Given the description of an element on the screen output the (x, y) to click on. 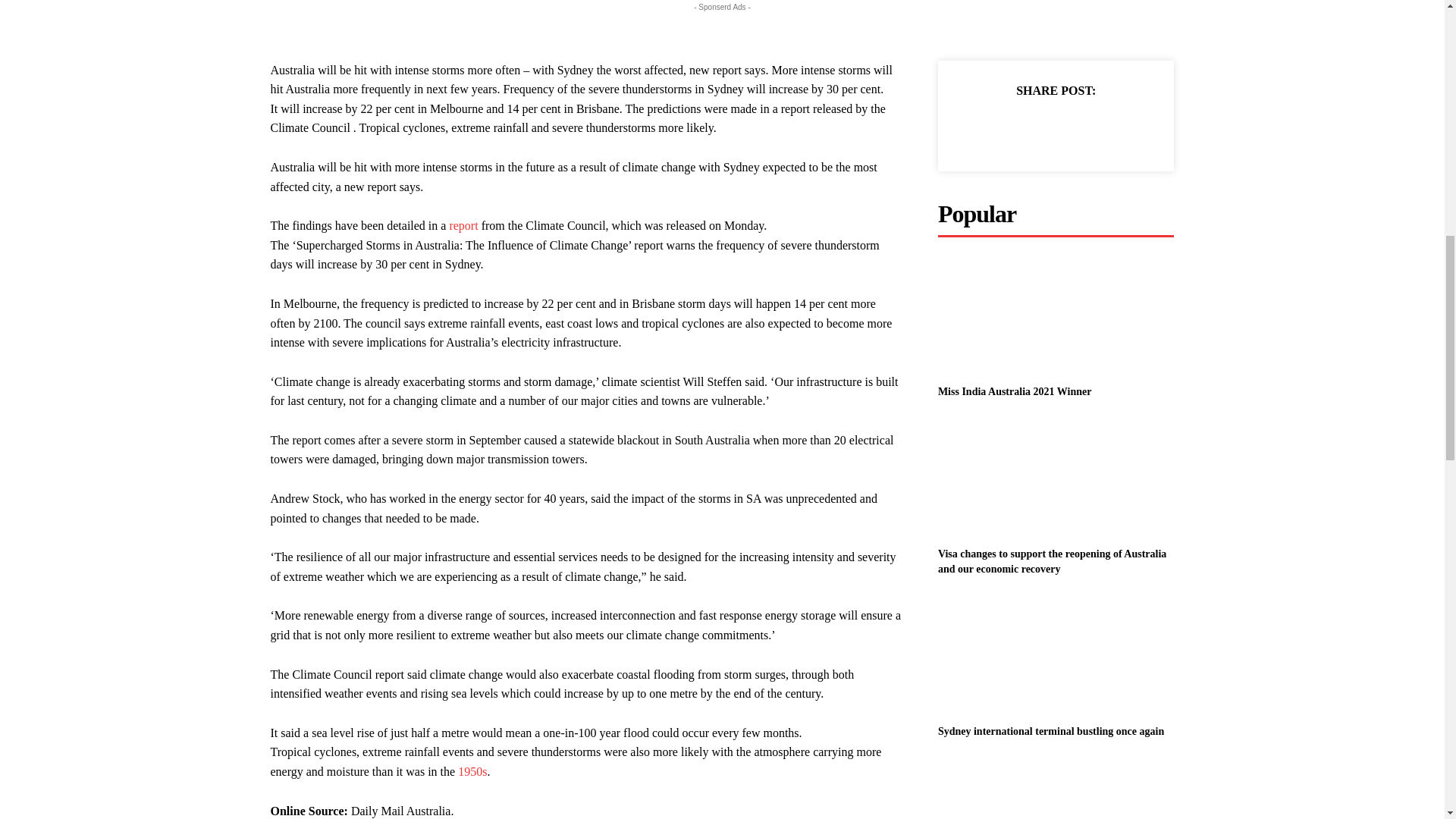
Sydney international terminal bustling once again (1055, 655)
Miss India Australia 2021 Winner (1055, 315)
Miss India Australia 2021 Winner (1014, 391)
